Given the description of an element on the screen output the (x, y) to click on. 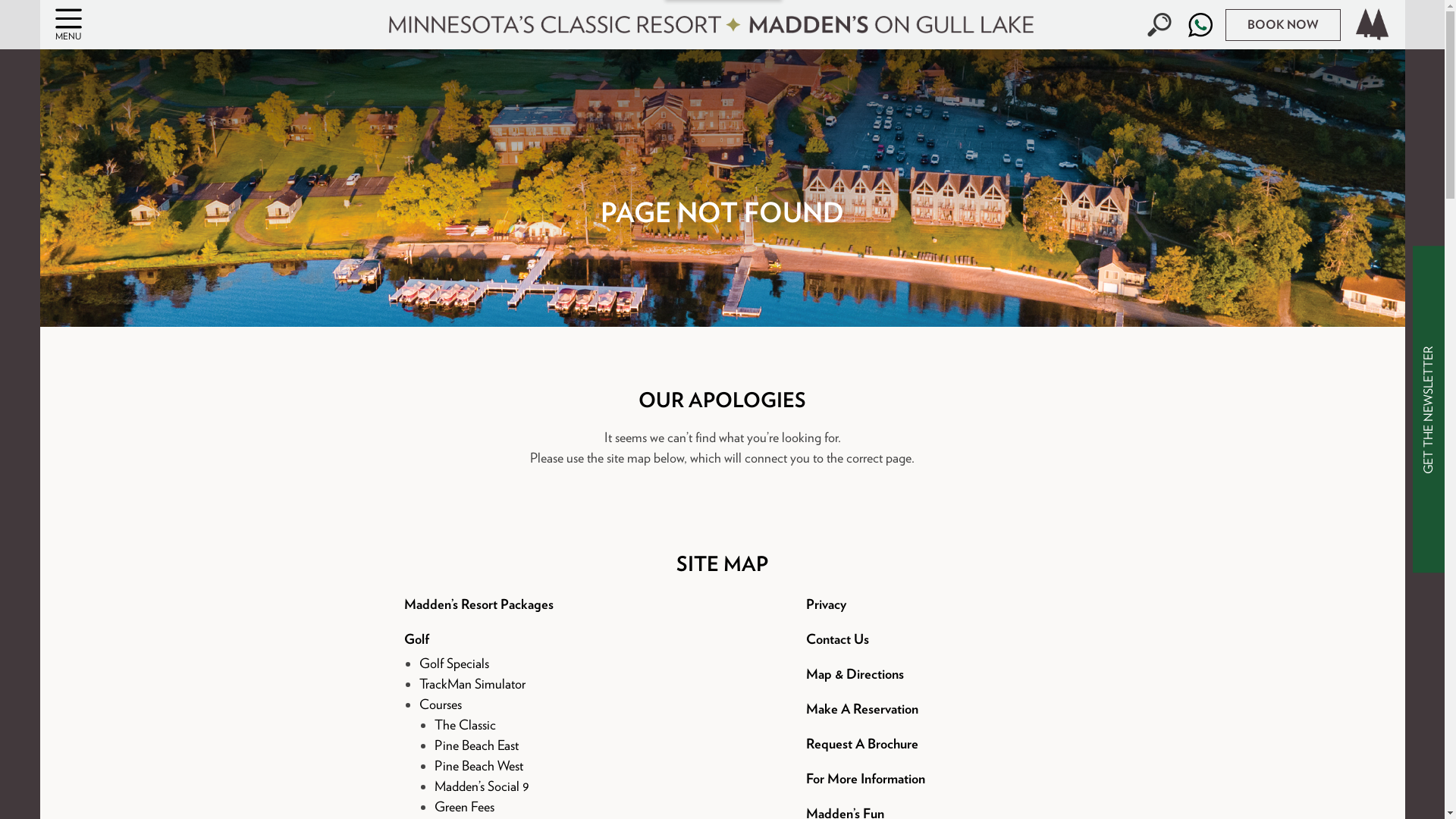
Home (1372, 24)
BOOK NOW (1282, 24)
Home (1372, 23)
